Given the description of an element on the screen output the (x, y) to click on. 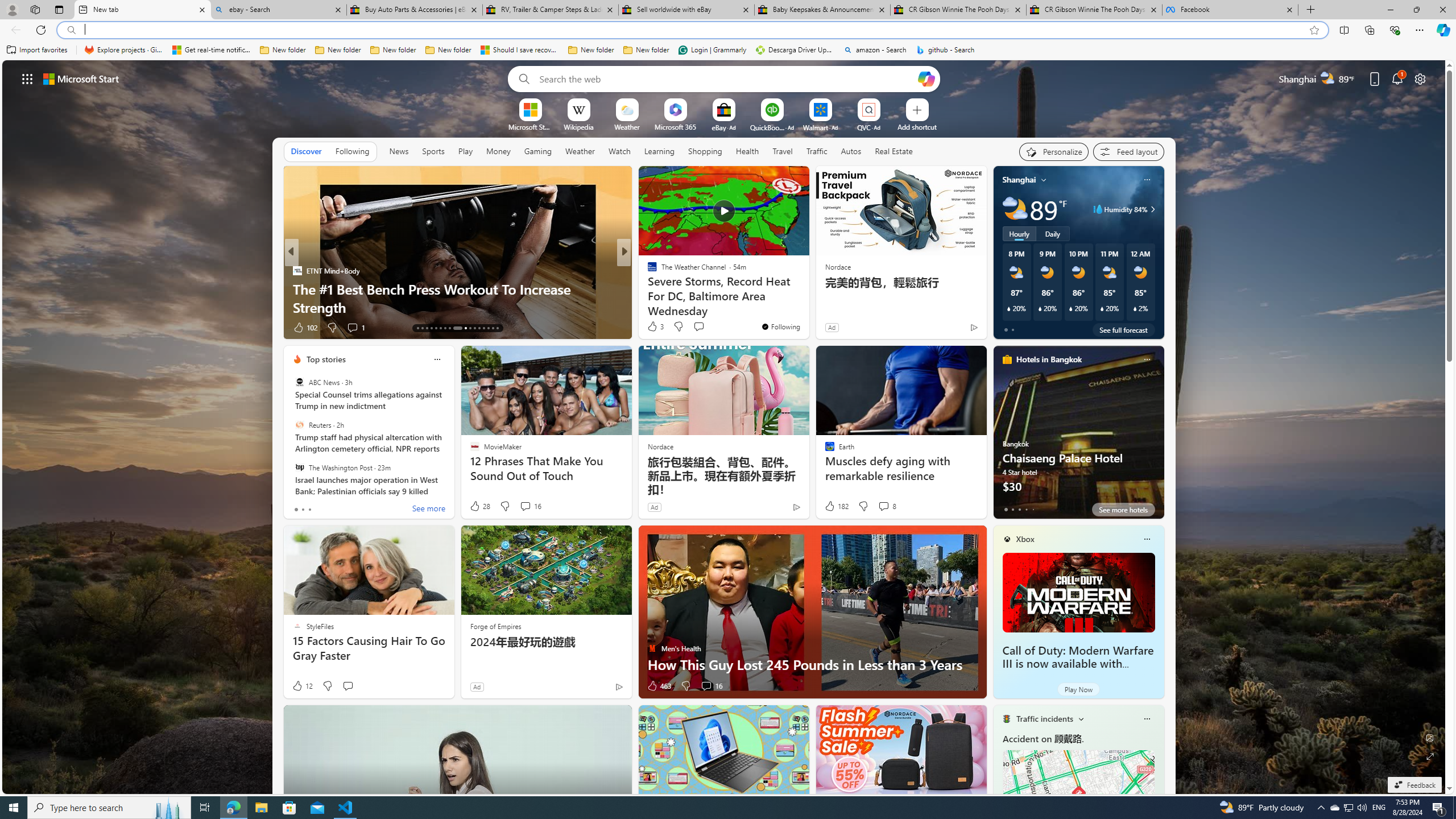
Humidity 84% (1150, 208)
3 Like (655, 326)
182 Like (835, 505)
AutomationID: tab-16 (431, 328)
See more hotels (1123, 509)
AutomationID: tab-27 (488, 328)
